Given the description of an element on the screen output the (x, y) to click on. 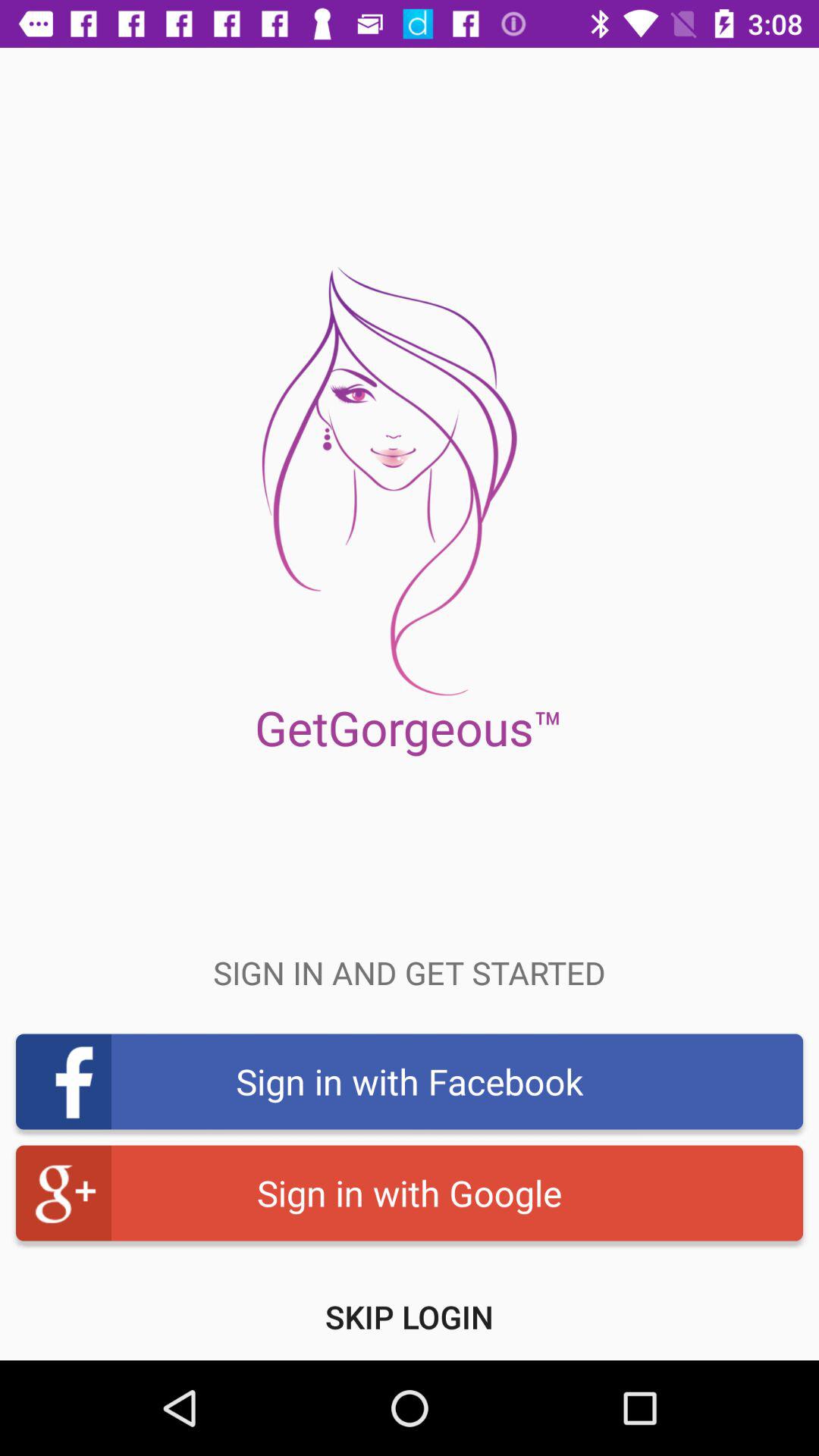
turn off button below the sign in with item (409, 1316)
